Given the description of an element on the screen output the (x, y) to click on. 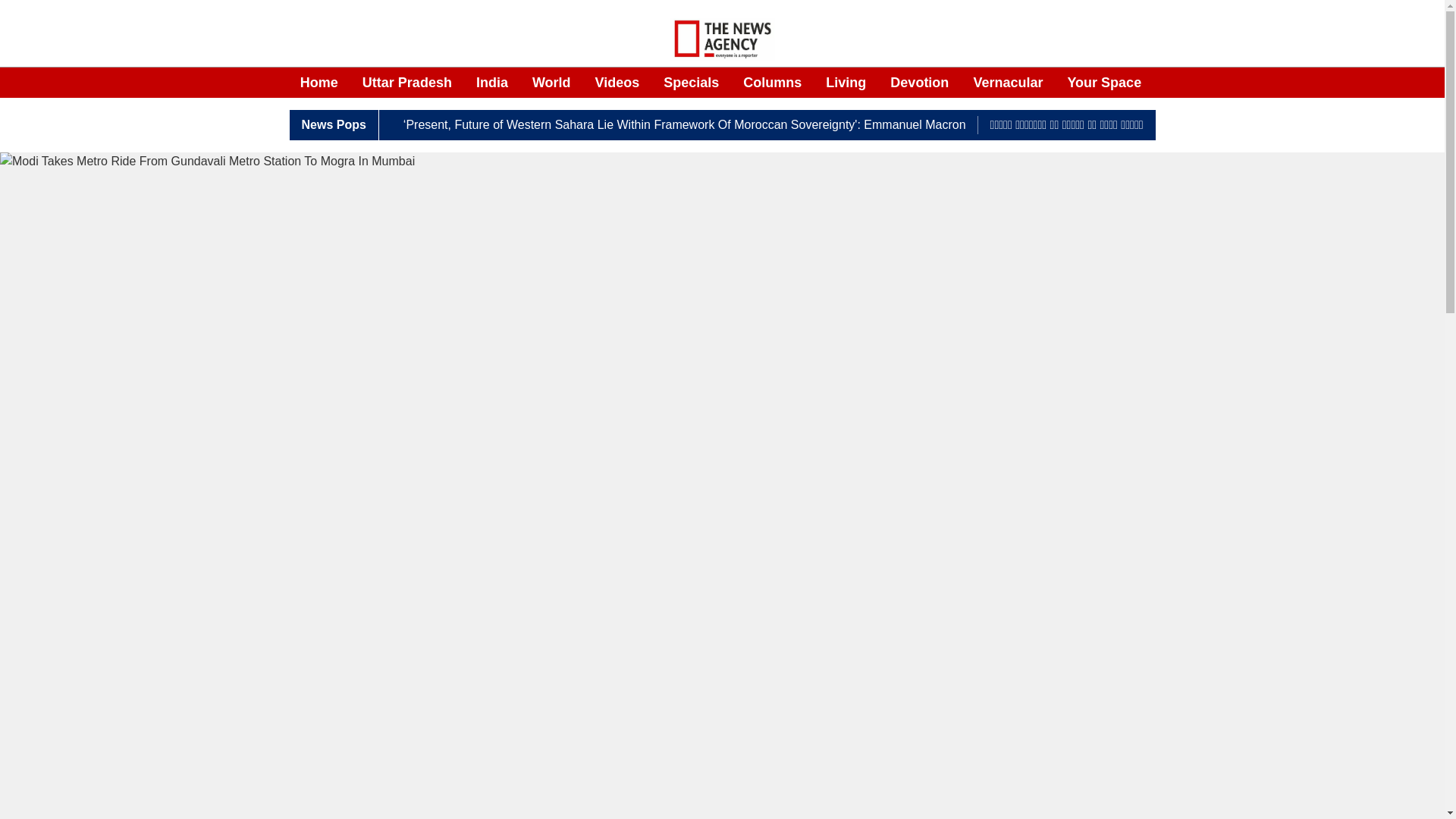
Uttar Pradesh (406, 82)
Vernacular (1007, 82)
Videos (617, 82)
World (551, 82)
India (492, 82)
Your Space (1104, 82)
Home (318, 82)
Living (845, 82)
Devotion (919, 82)
Specials (691, 82)
Columns (772, 82)
